Given the description of an element on the screen output the (x, y) to click on. 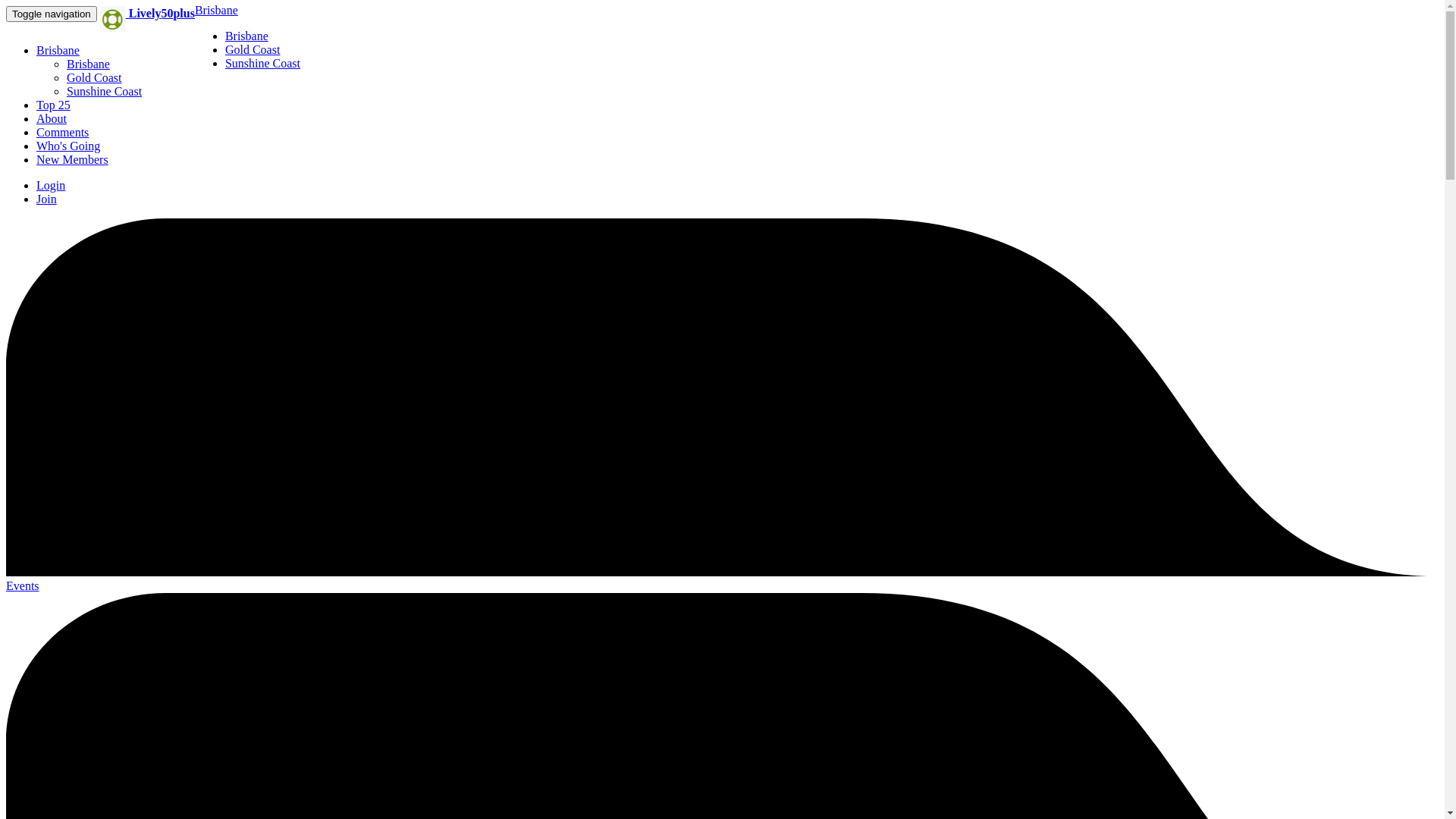
Join Element type: text (46, 198)
Gold Coast Element type: text (93, 77)
Brisbane Element type: text (246, 35)
Lively50plus Element type: text (147, 12)
Login Element type: text (50, 184)
Sunshine Coast Element type: text (103, 90)
Brisbane Element type: text (87, 63)
Top 25 Element type: text (53, 104)
Brisbane Element type: text (57, 49)
Brisbane Element type: text (216, 9)
Who's Going Element type: text (68, 145)
Comments Element type: text (62, 131)
About Element type: text (51, 118)
Sunshine Coast Element type: text (262, 62)
Gold Coast Element type: text (252, 49)
New Members Element type: text (72, 159)
Toggle navigation Element type: text (51, 13)
Events Element type: text (722, 578)
